Given the description of an element on the screen output the (x, y) to click on. 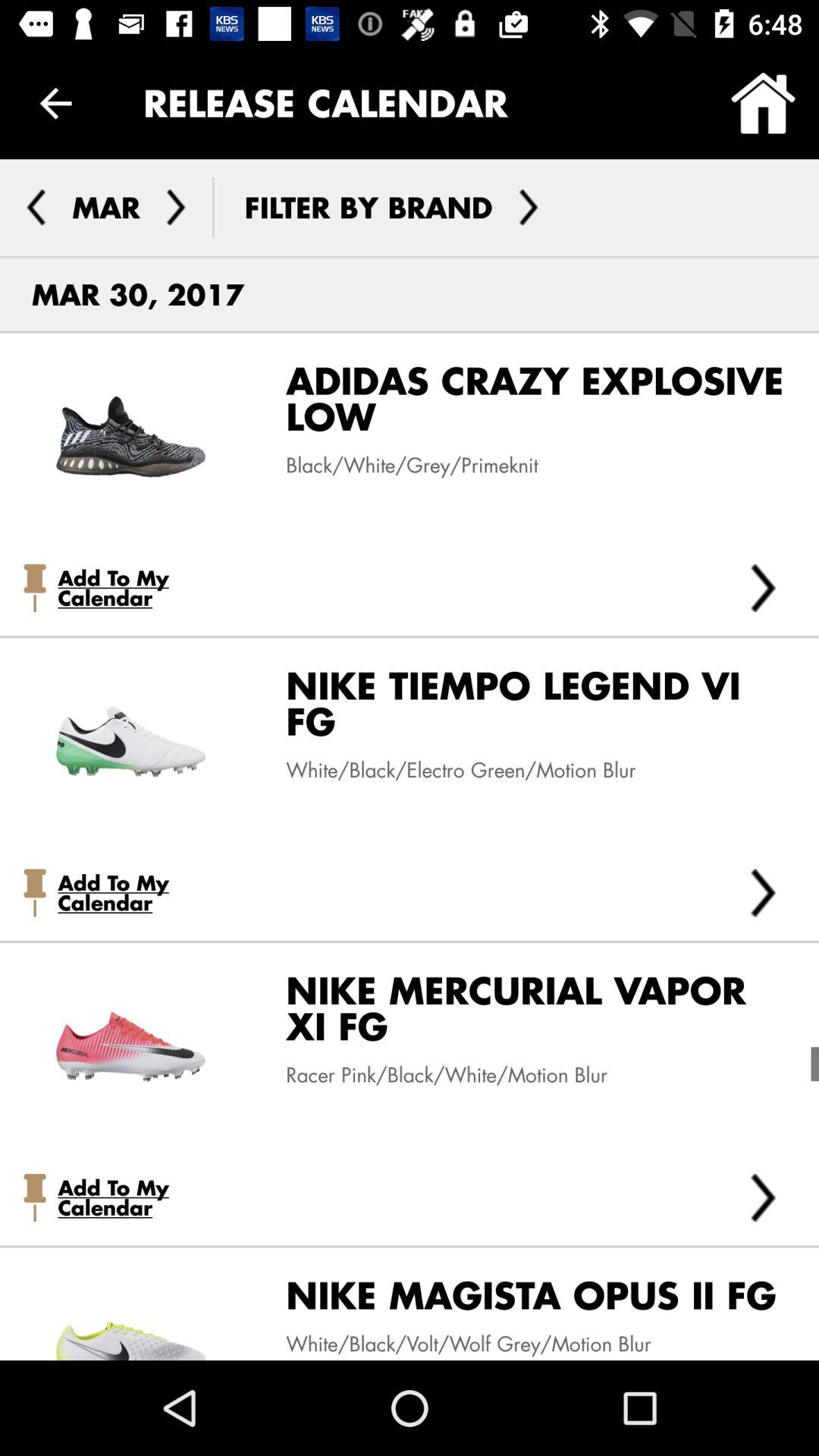
choose icon to the right of release calendar icon (763, 103)
